Given the description of an element on the screen output the (x, y) to click on. 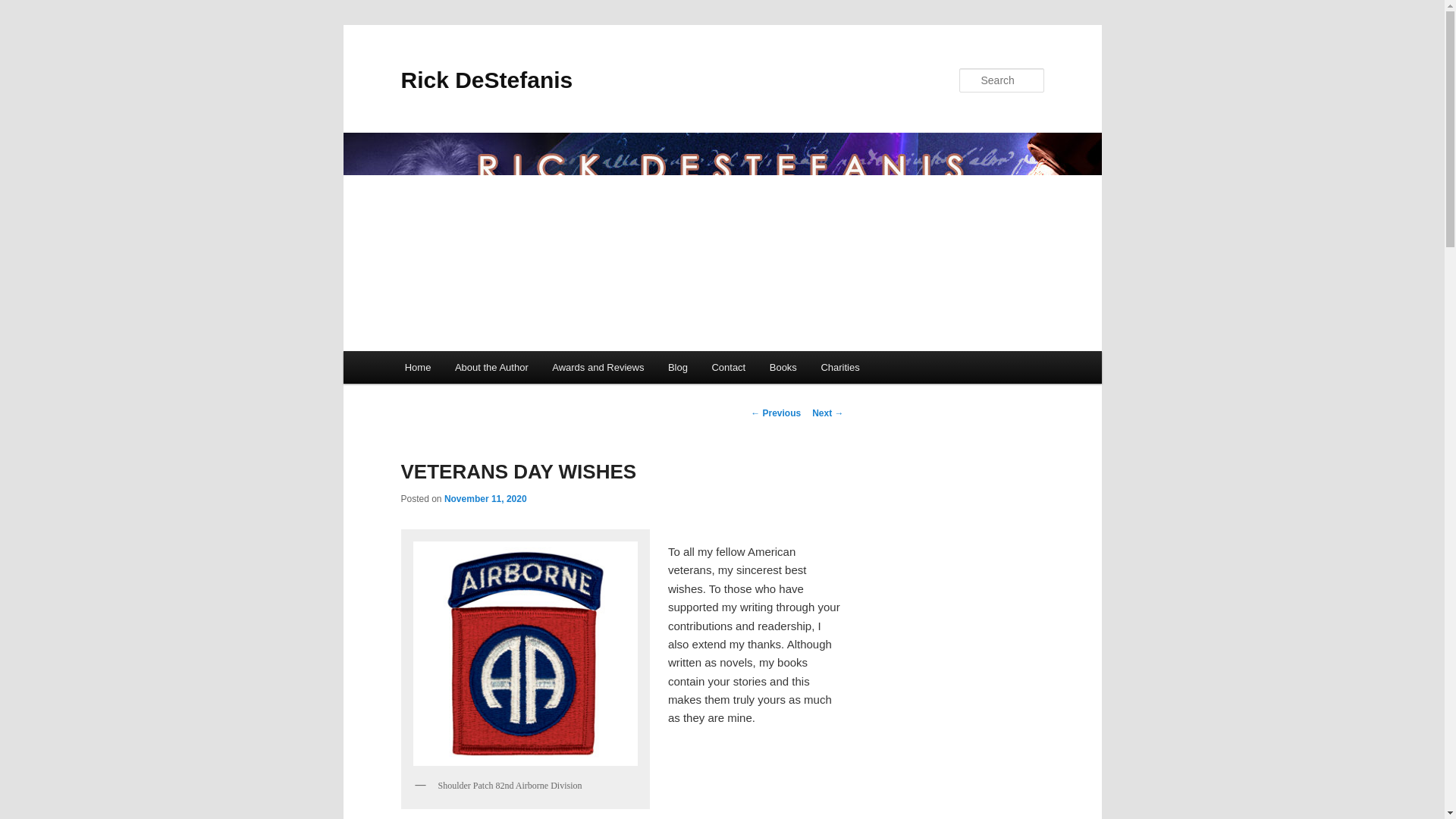
Blog (678, 367)
Charities (840, 367)
4:07 pm (485, 498)
Awards and Reviews (598, 367)
Books (783, 367)
Rick DeStefanis (486, 79)
About the Author (491, 367)
Home (417, 367)
Search (24, 8)
Contact (728, 367)
November 11, 2020 (485, 498)
